Given the description of an element on the screen output the (x, y) to click on. 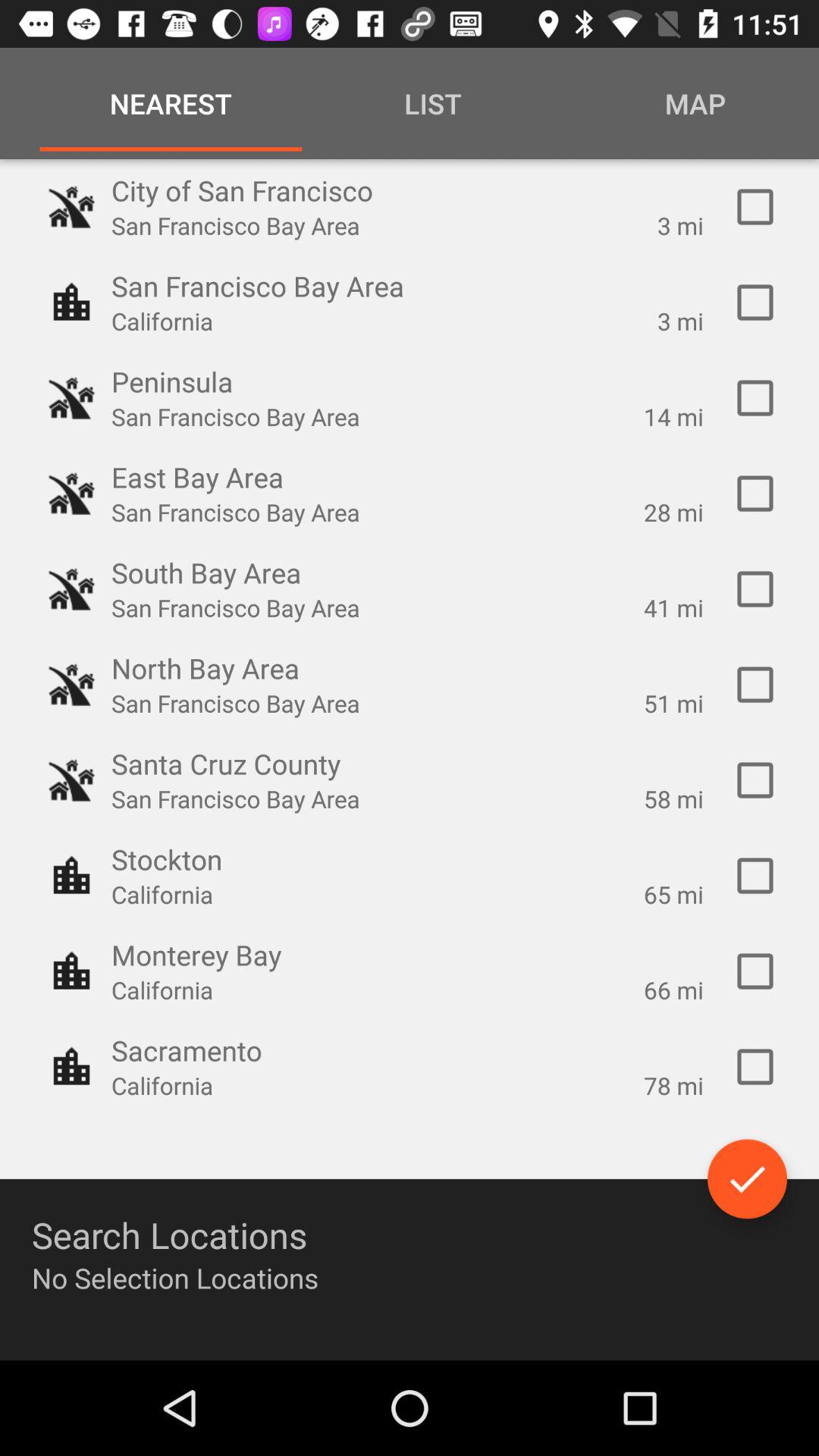
select the location (755, 1066)
